Given the description of an element on the screen output the (x, y) to click on. 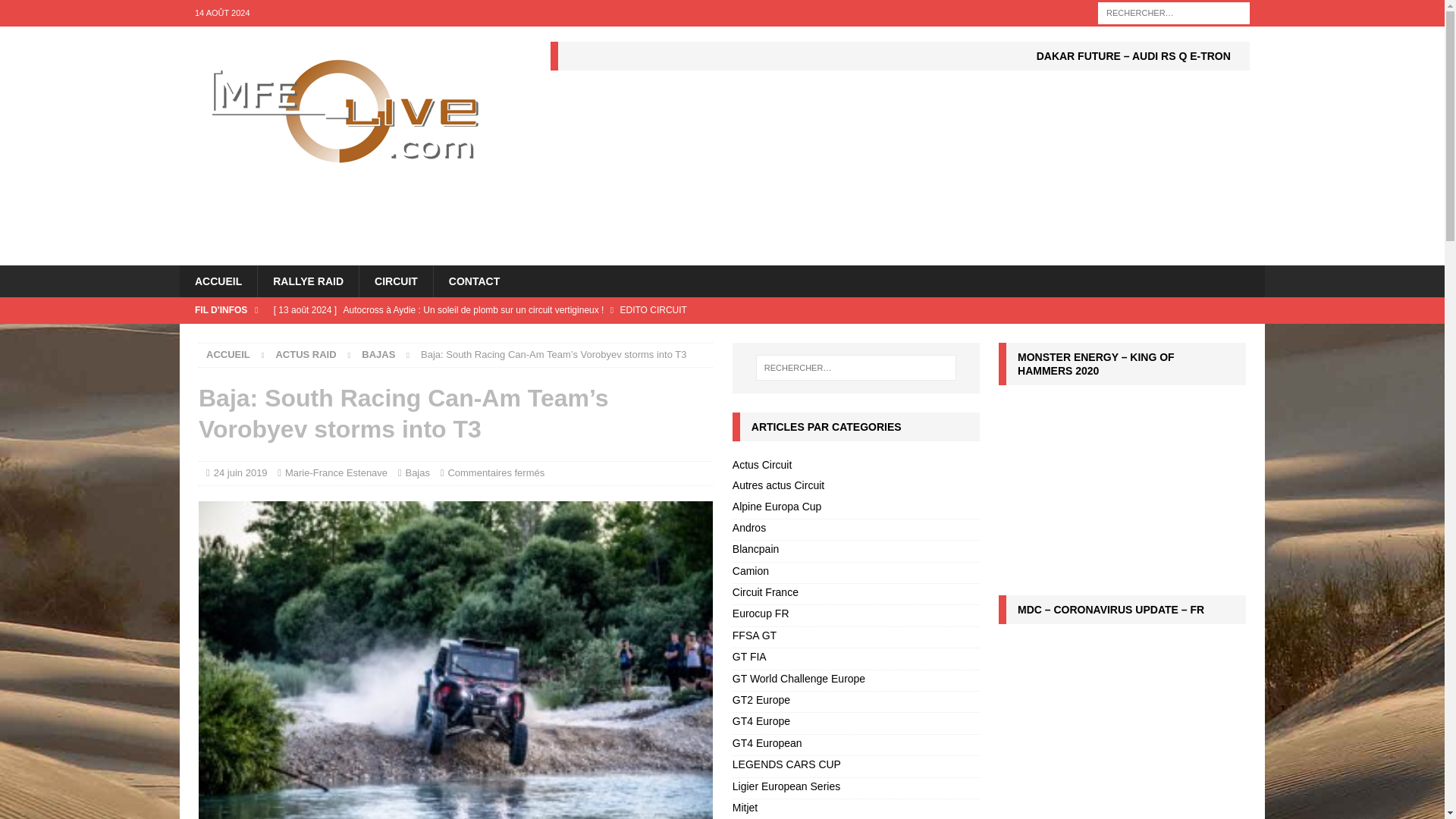
GT World Challenge Europe (855, 680)
Mitjet (855, 809)
Rechercher (56, 11)
Andros (855, 529)
24 juin 2019 (240, 472)
BAJAS (377, 354)
Actus Circuit (855, 466)
LEGENDS CARS CUP (855, 765)
Marie-France Estenave (336, 472)
